Given the description of an element on the screen output the (x, y) to click on. 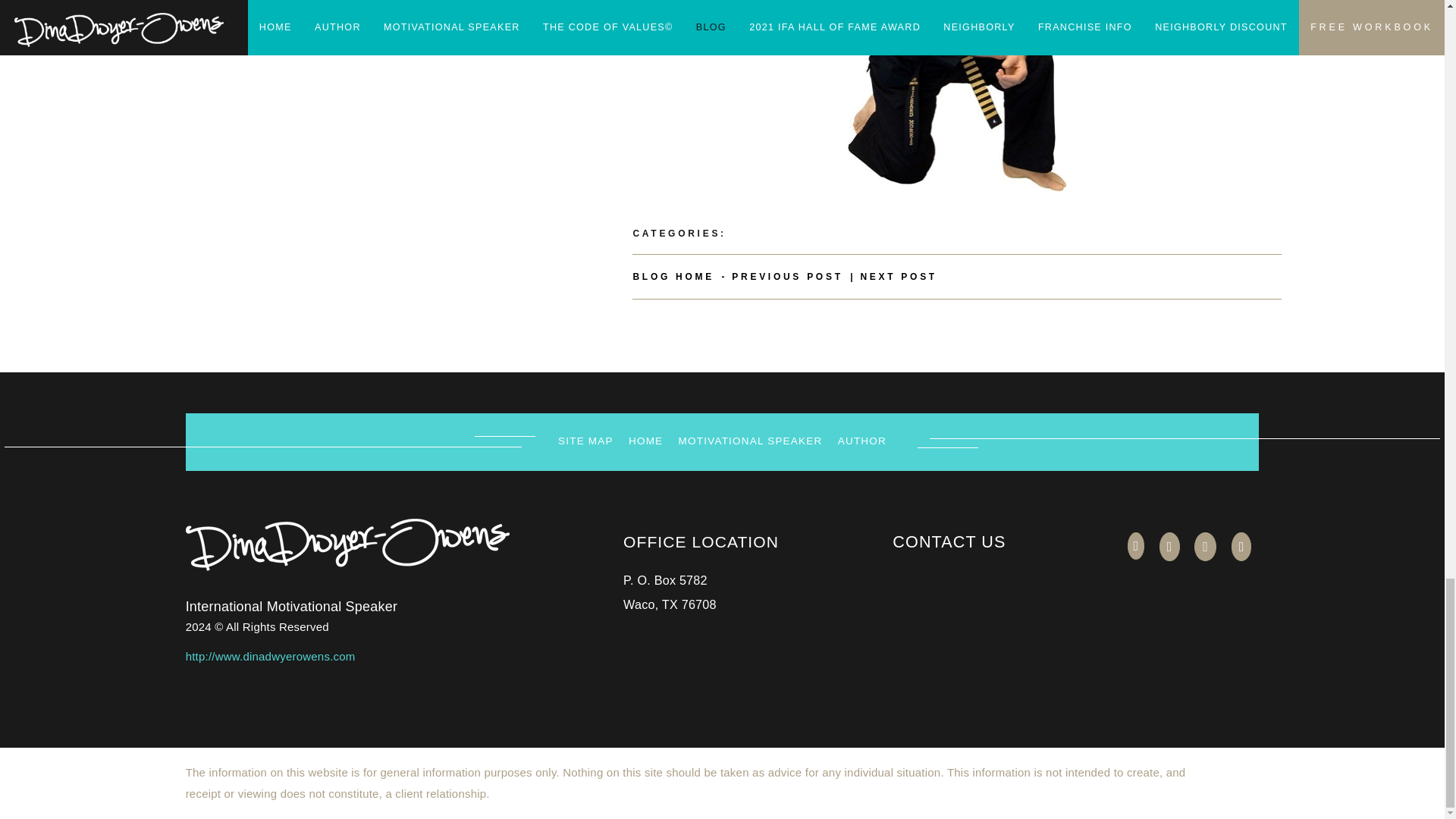
NEXT POST (898, 276)
BLOG HOME (672, 276)
Dina Dwyer-Owens (347, 544)
SITE MAP (585, 440)
New Normal, Old Friends (787, 276)
PREVIOUS POST (787, 276)
MOTIVATIONAL SPEAKER (749, 440)
HOME (646, 440)
